Given the description of an element on the screen output the (x, y) to click on. 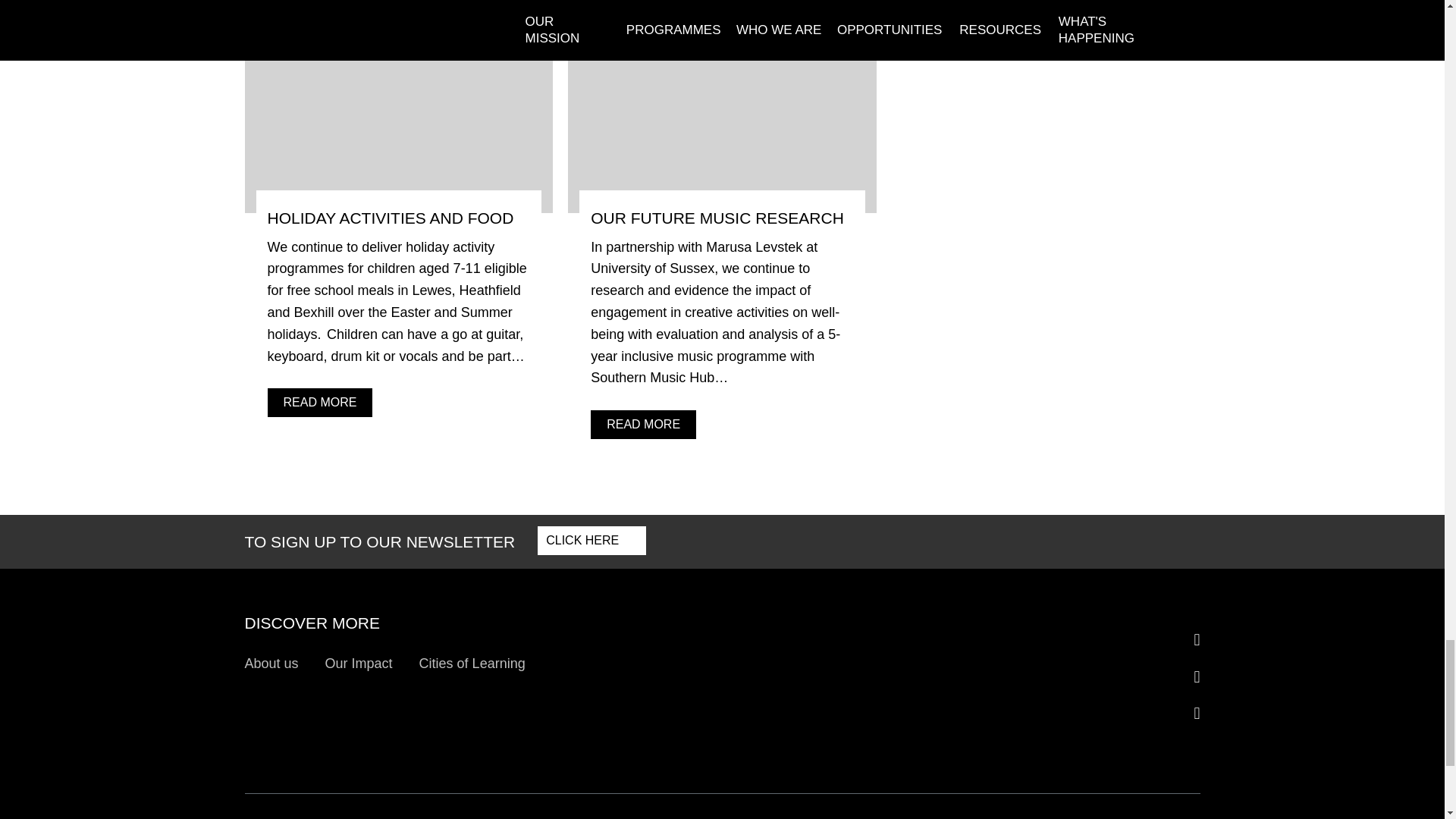
Cities of Learning (475, 663)
CLICK HERE (591, 540)
About us (274, 663)
Our Impact (362, 663)
